Given the description of an element on the screen output the (x, y) to click on. 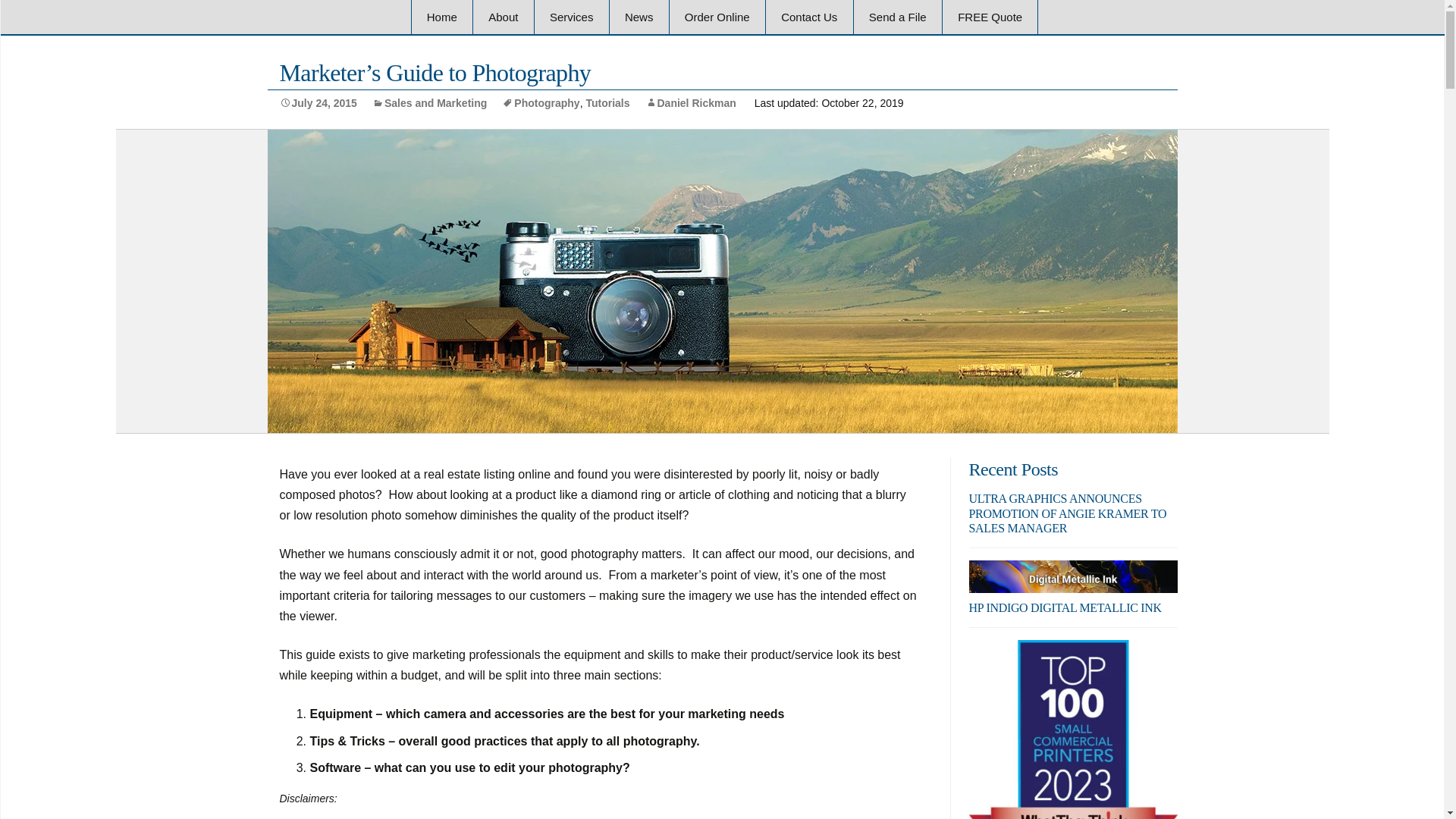
Daniel Rickman (690, 102)
July 24, 2015 (317, 102)
HP Indigo Digital Metallic Ink (1073, 594)
ultragraphics Billings Home (441, 17)
Order Online (717, 17)
Send a File (897, 17)
View all posts by Daniel Rickman (690, 102)
Home (441, 17)
Sales and Marketing (429, 102)
Secure, Customizable Storefont (717, 17)
Send a Message (841, 51)
About (502, 17)
Tutorials (606, 102)
